Given the description of an element on the screen output the (x, y) to click on. 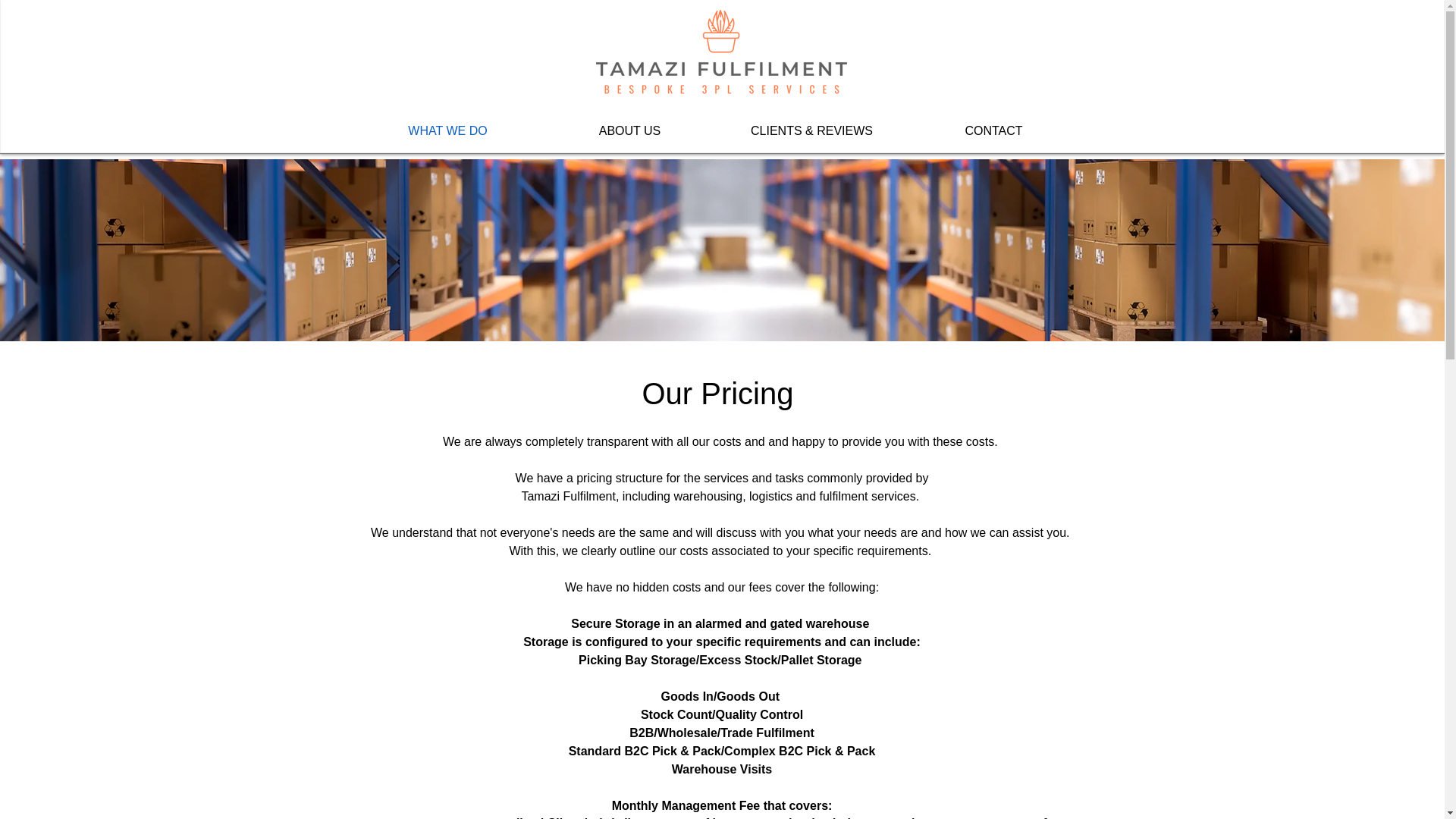
ABOUT US (629, 130)
CONTACT (993, 130)
WHAT WE DO (447, 130)
